Given the description of an element on the screen output the (x, y) to click on. 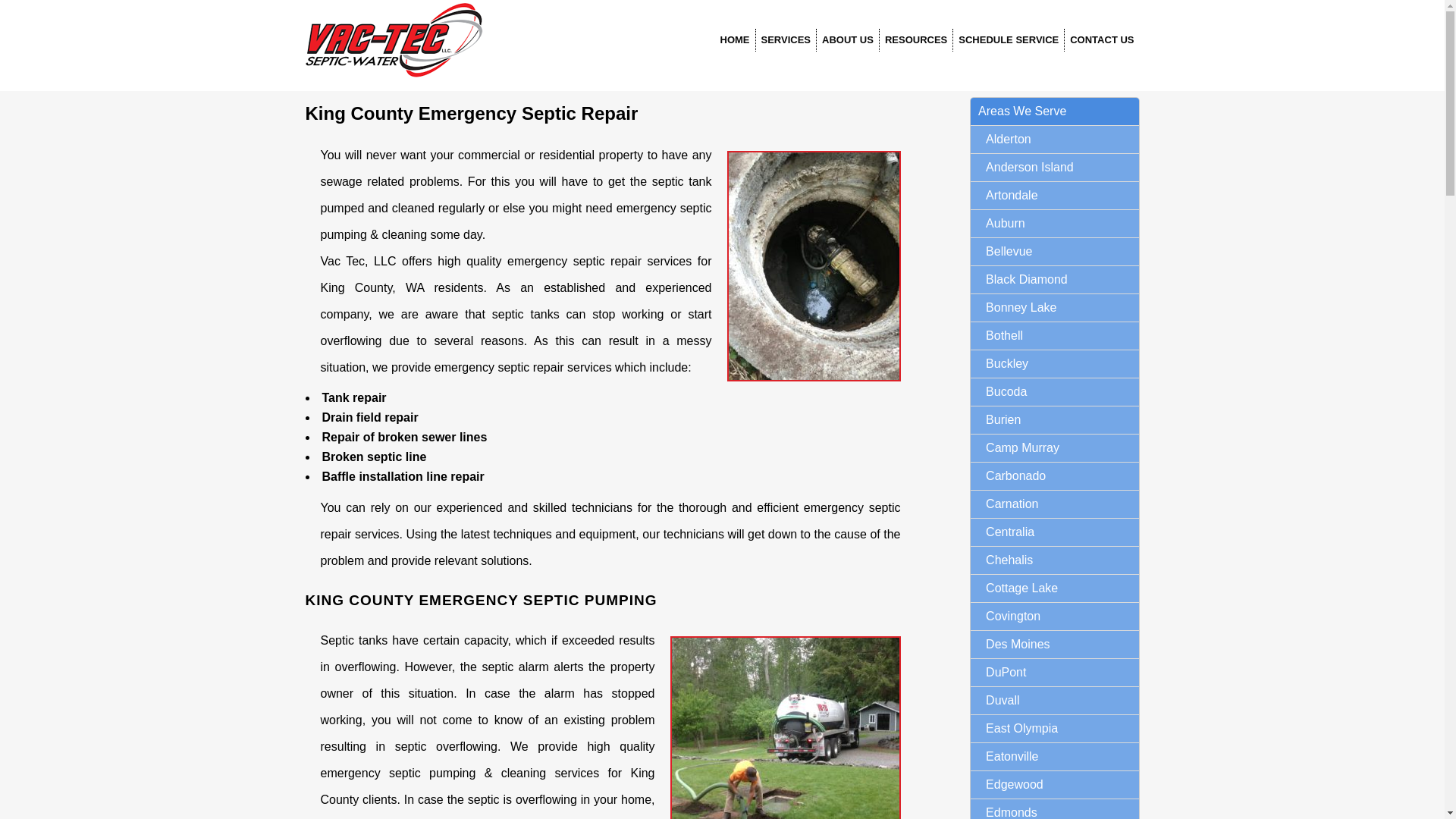
SCHEDULE SERVICE (1008, 39)
HOME (734, 39)
ABOUT US (847, 39)
CONTACT US (1101, 39)
RESOURCES (915, 39)
SERVICES (785, 39)
